Given the description of an element on the screen output the (x, y) to click on. 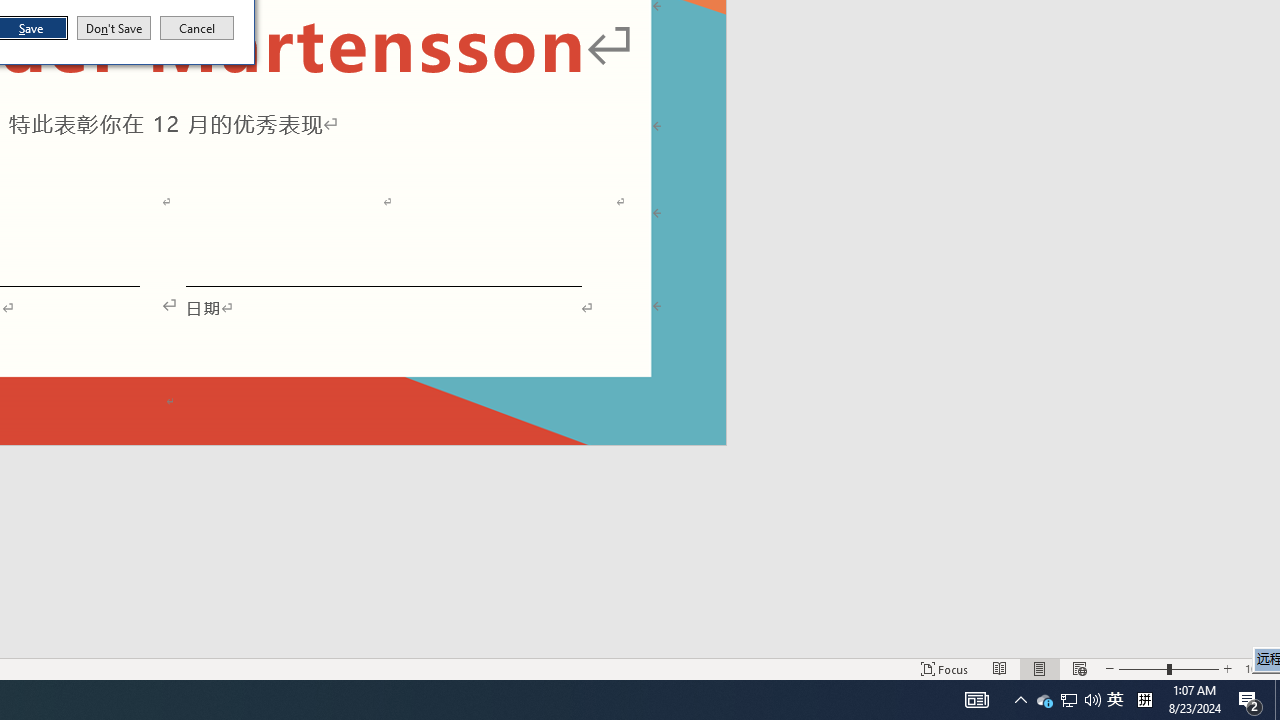
Don't Save (113, 27)
AutomationID: 4105 (976, 699)
Action Center, 2 new notifications (1044, 699)
